Given the description of an element on the screen output the (x, y) to click on. 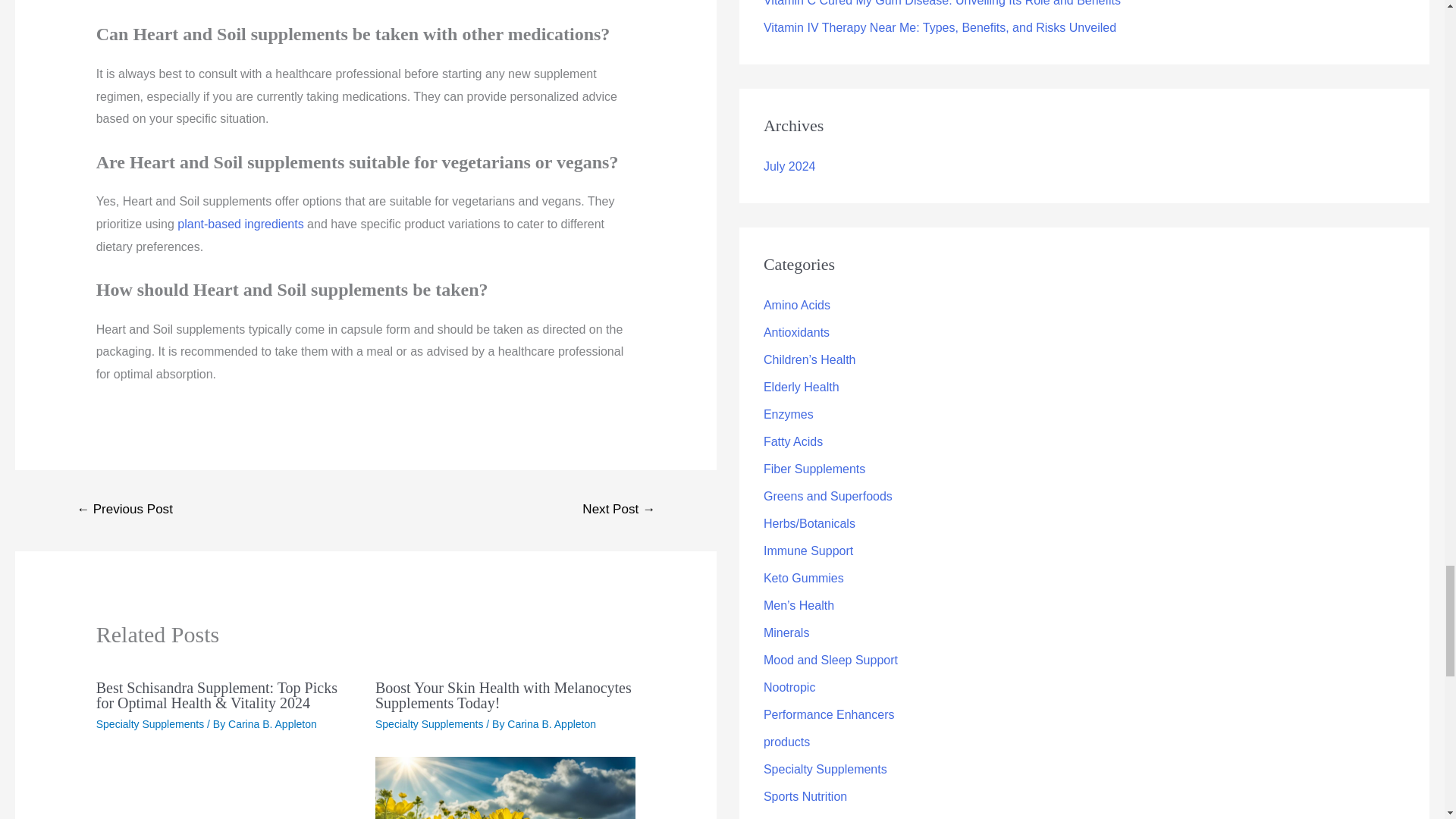
Specialty Supplements (149, 724)
Carina B. Appleton (550, 724)
Specialty Supplements (429, 724)
plant-based ingredients (239, 223)
Carina B. Appleton (272, 724)
View all posts by Carina B. Appleton (550, 724)
View all posts by Carina B. Appleton (272, 724)
Boost Your Skin Health with Melanocytes Supplements Today! (503, 695)
